Given the description of an element on the screen output the (x, y) to click on. 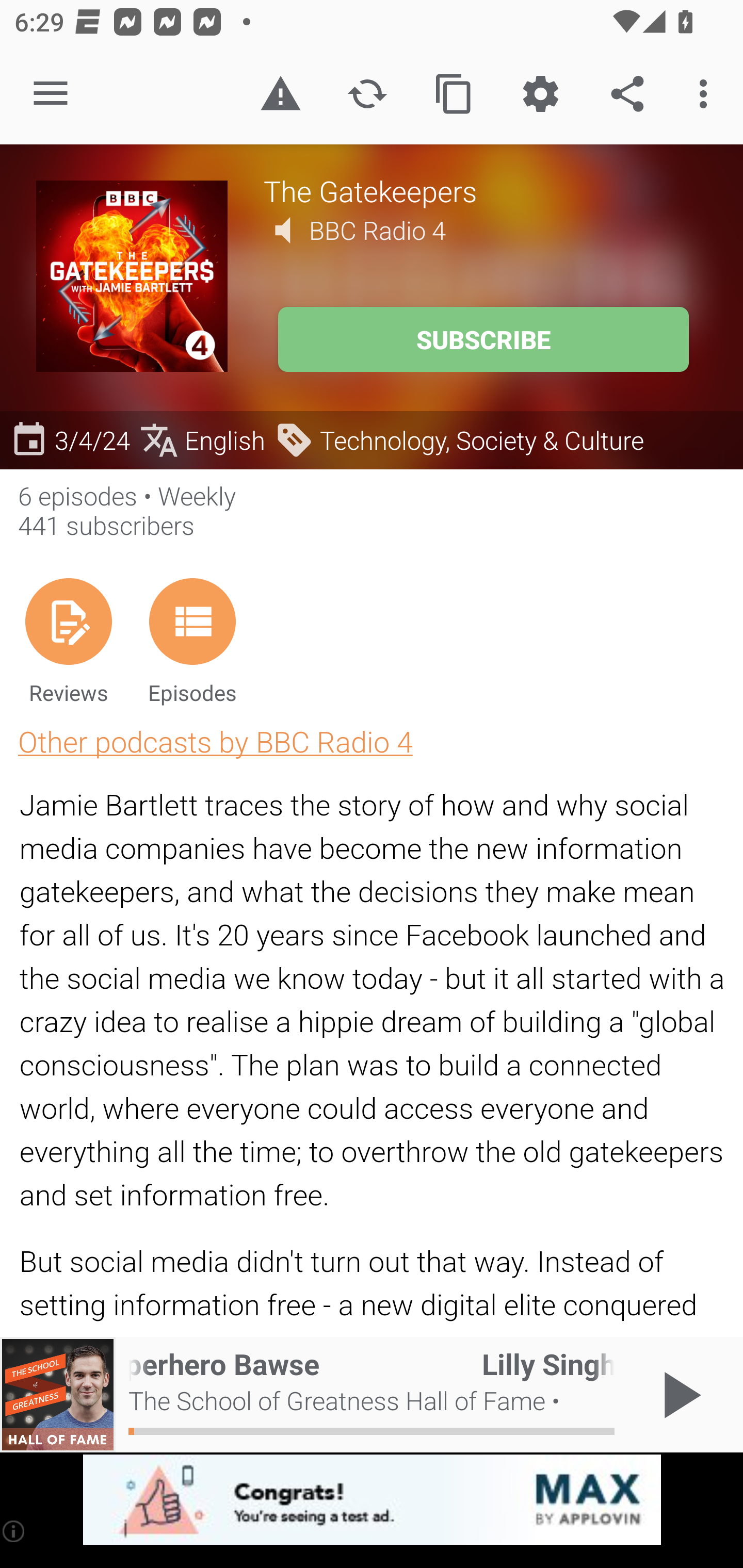
Open navigation sidebar (50, 93)
Report inappropriate content (280, 93)
Refresh podcast description (366, 93)
Copy feed url to clipboard (453, 93)
Custom Settings (540, 93)
Share the podcast (626, 93)
More options (706, 93)
The Gatekeepers (484, 190)
BBC Radio 4 (377, 230)
SUBSCRIBE (482, 339)
Technology, Society & Culture (459, 439)
Reviews (68, 640)
Episodes (192, 640)
Other podcasts by BBC Radio 4 (215, 740)
Play / Pause (677, 1394)
app-monetization (371, 1500)
(i) (14, 1531)
